Given the description of an element on the screen output the (x, y) to click on. 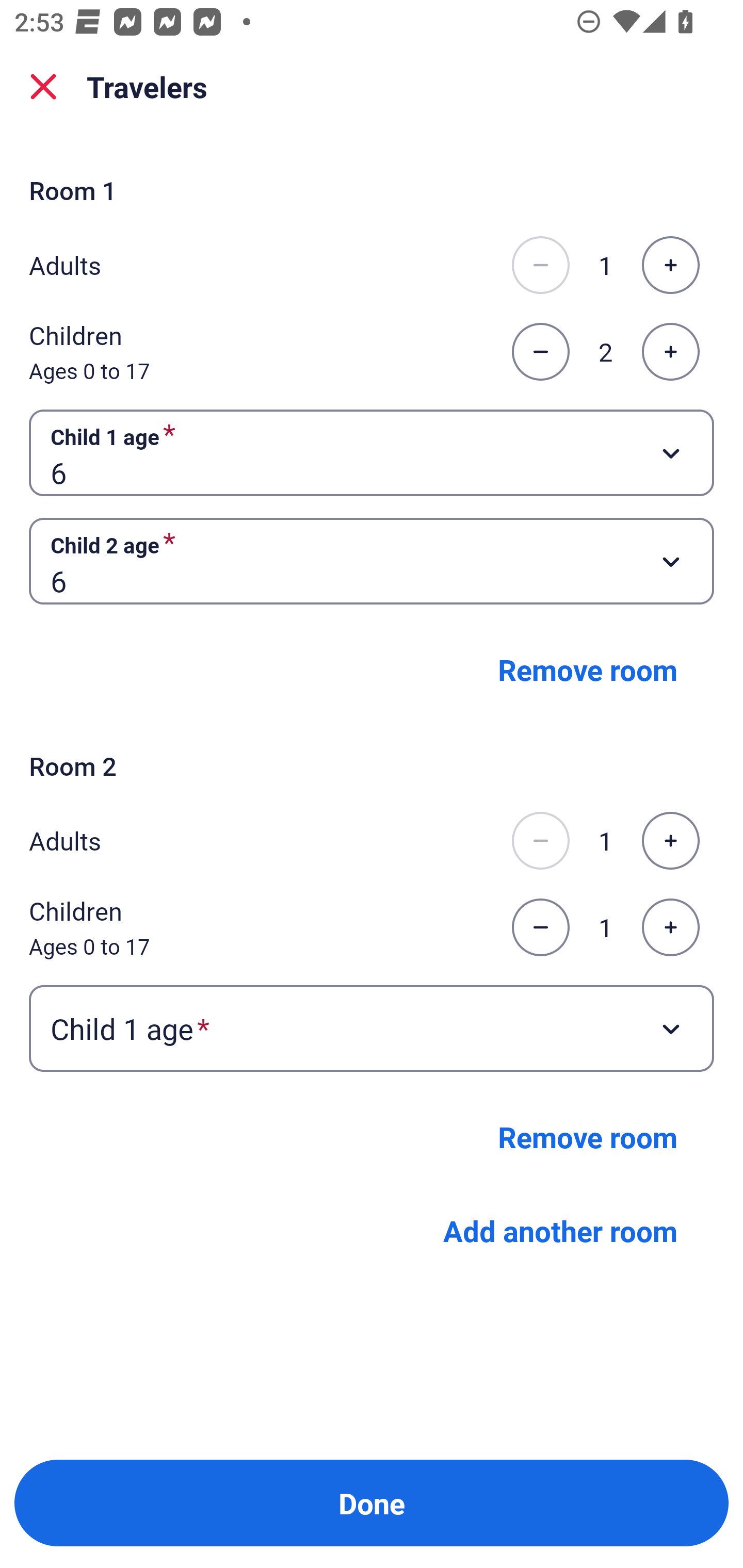
close (43, 86)
Decrease the number of adults (540, 264)
Increase the number of adults (670, 264)
Decrease the number of children (540, 351)
Increase the number of children (670, 351)
Child 1 age required Button 6 (371, 452)
Child 2 age required Button 6 (371, 561)
Remove room (588, 669)
Decrease the number of adults (540, 841)
Increase the number of adults (670, 841)
Decrease the number of children (540, 927)
Increase the number of children (670, 927)
Child 1 age required Button (371, 1028)
Remove room (588, 1136)
Add another room (560, 1229)
Done (371, 1502)
